Given the description of an element on the screen output the (x, y) to click on. 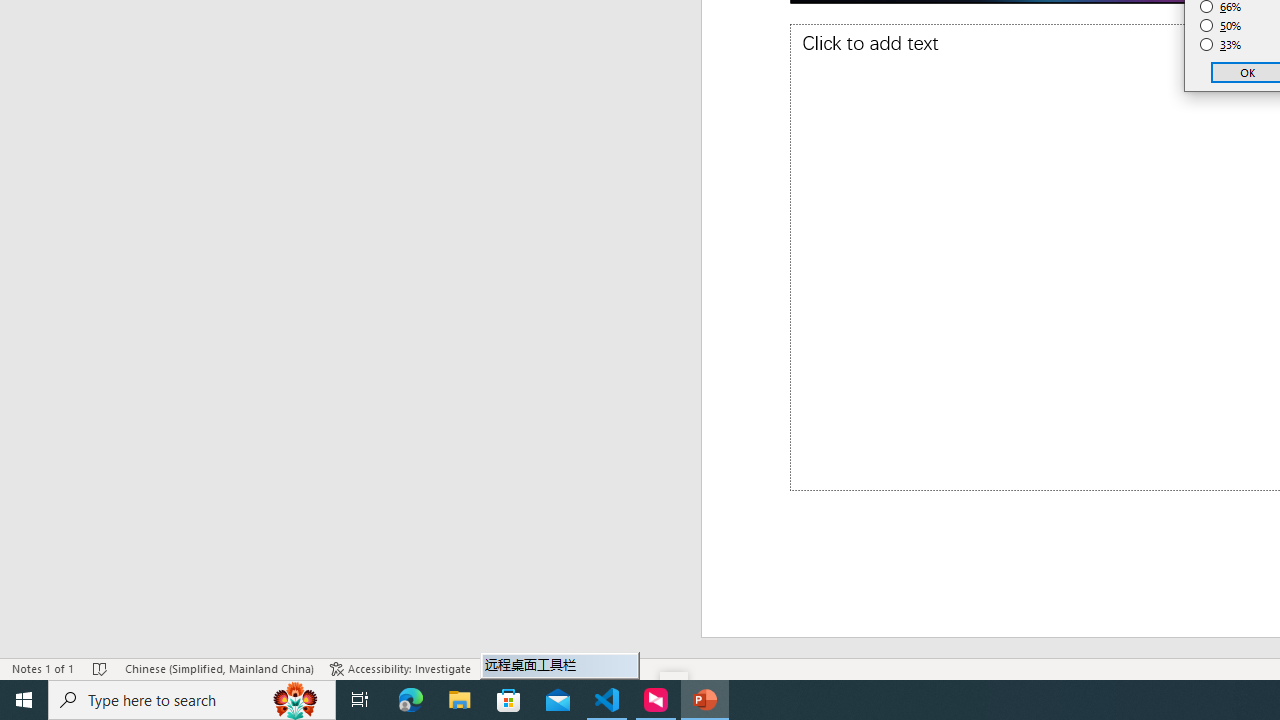
33% (1221, 44)
50% (1221, 25)
